Given the description of an element on the screen output the (x, y) to click on. 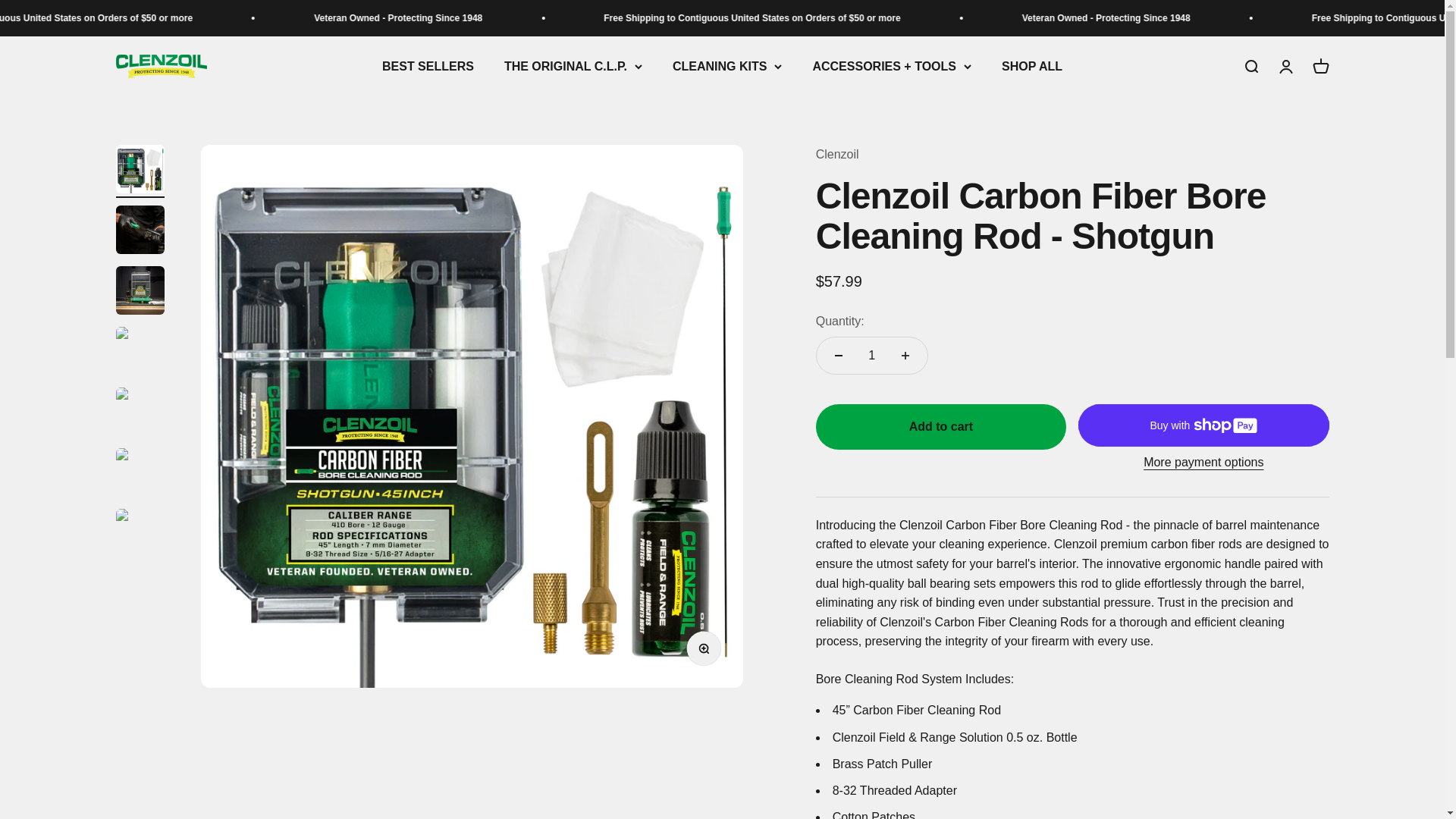
Zoom (707, 651)
SHOP ALL (1031, 65)
BEST SELLERS (1319, 66)
Open account page (427, 65)
Clenzoil (1285, 66)
Open search (160, 65)
